Given the description of an element on the screen output the (x, y) to click on. 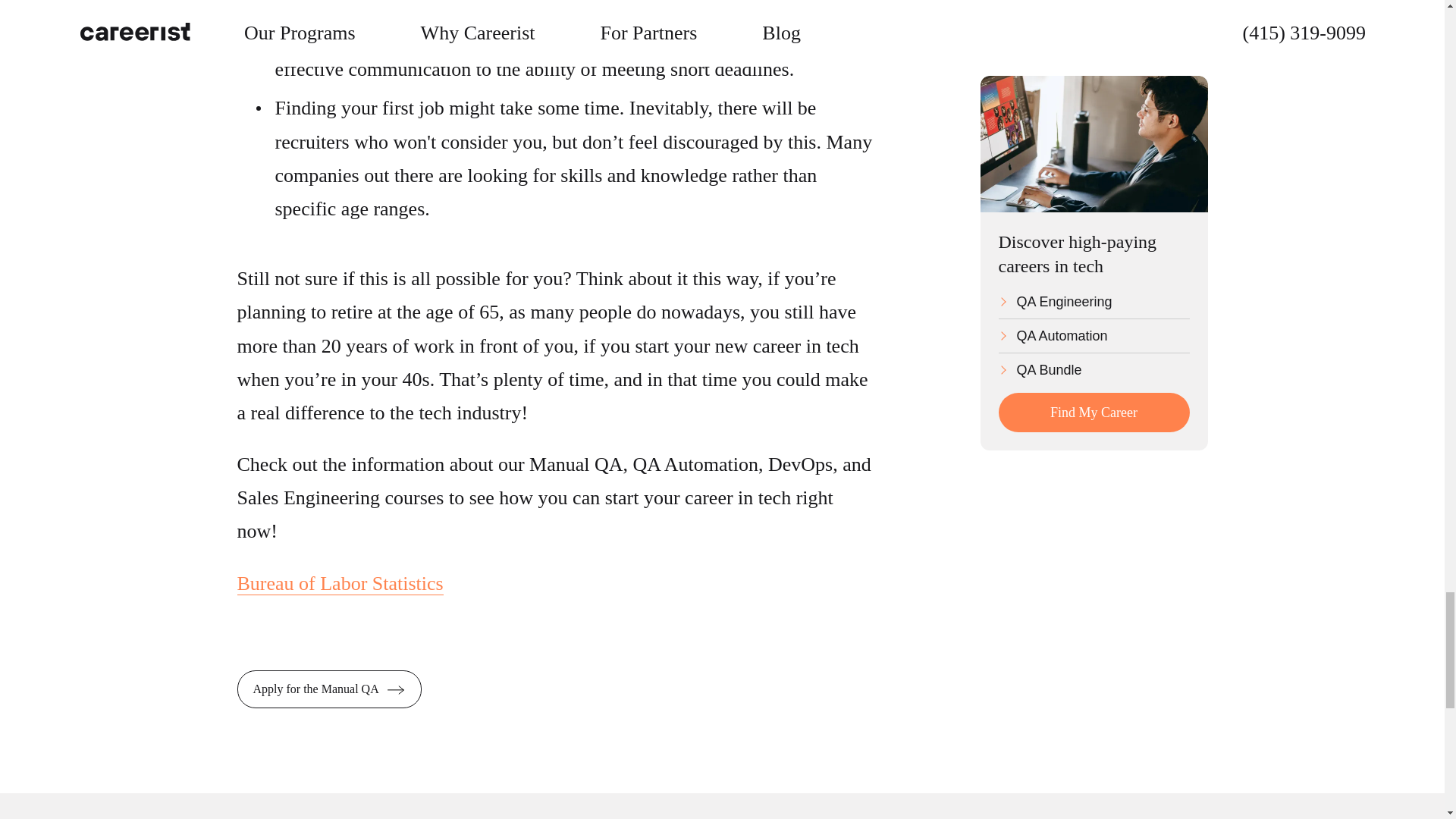
Bureau of Labor Statistics (338, 583)
Apply for the Manual QA (327, 689)
